Given the description of an element on the screen output the (x, y) to click on. 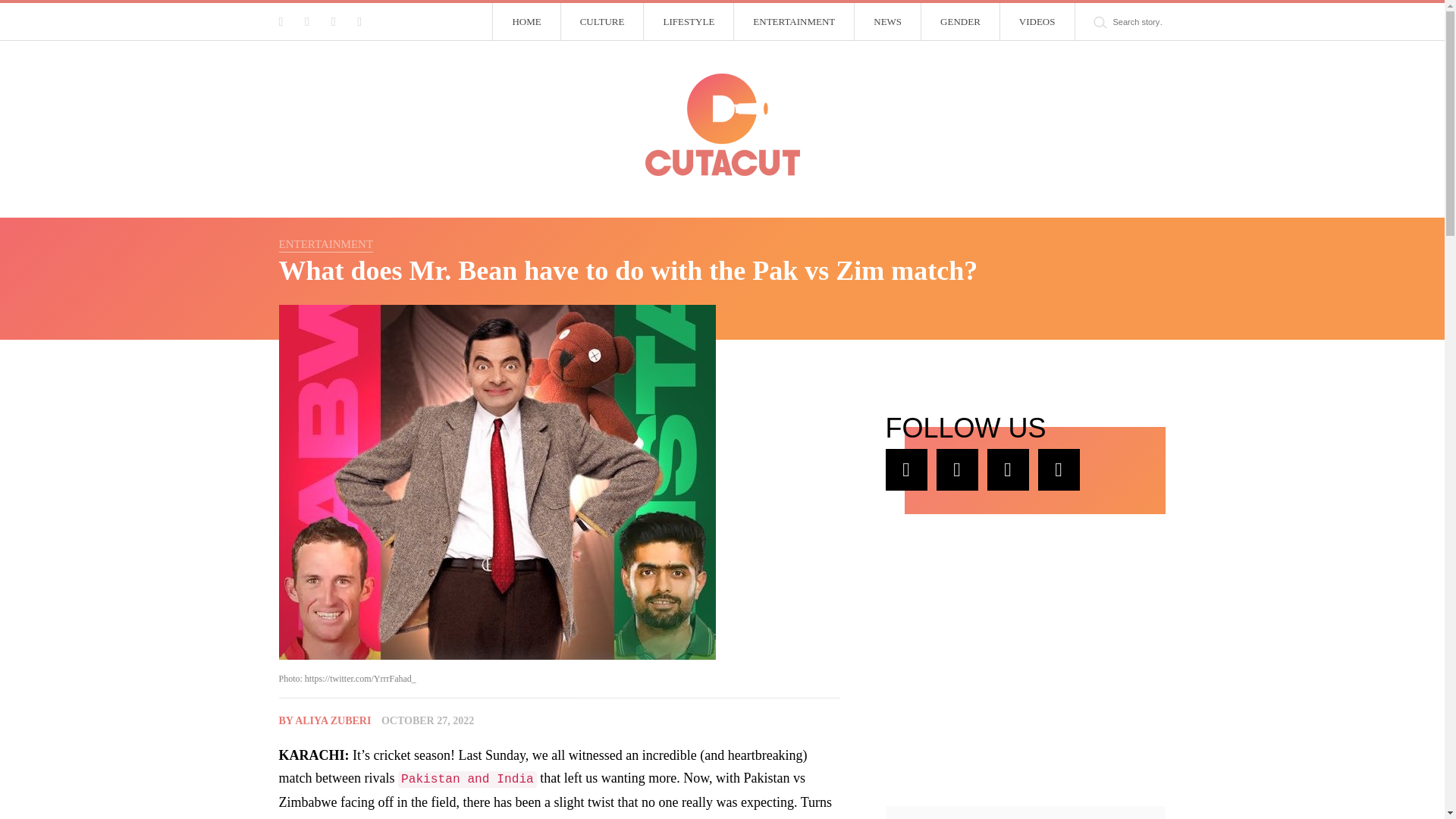
VIDEOS (1037, 21)
ENTERTAINMENT (326, 244)
Advertisement (999, 657)
HOME (526, 21)
NEWS (887, 21)
Pakistan and India (467, 777)
GENDER (960, 21)
CULTURE (602, 21)
LIFESTYLE (688, 21)
ENTERTAINMENT (793, 21)
BY ALIYA ZUBERI (325, 720)
